Given the description of an element on the screen output the (x, y) to click on. 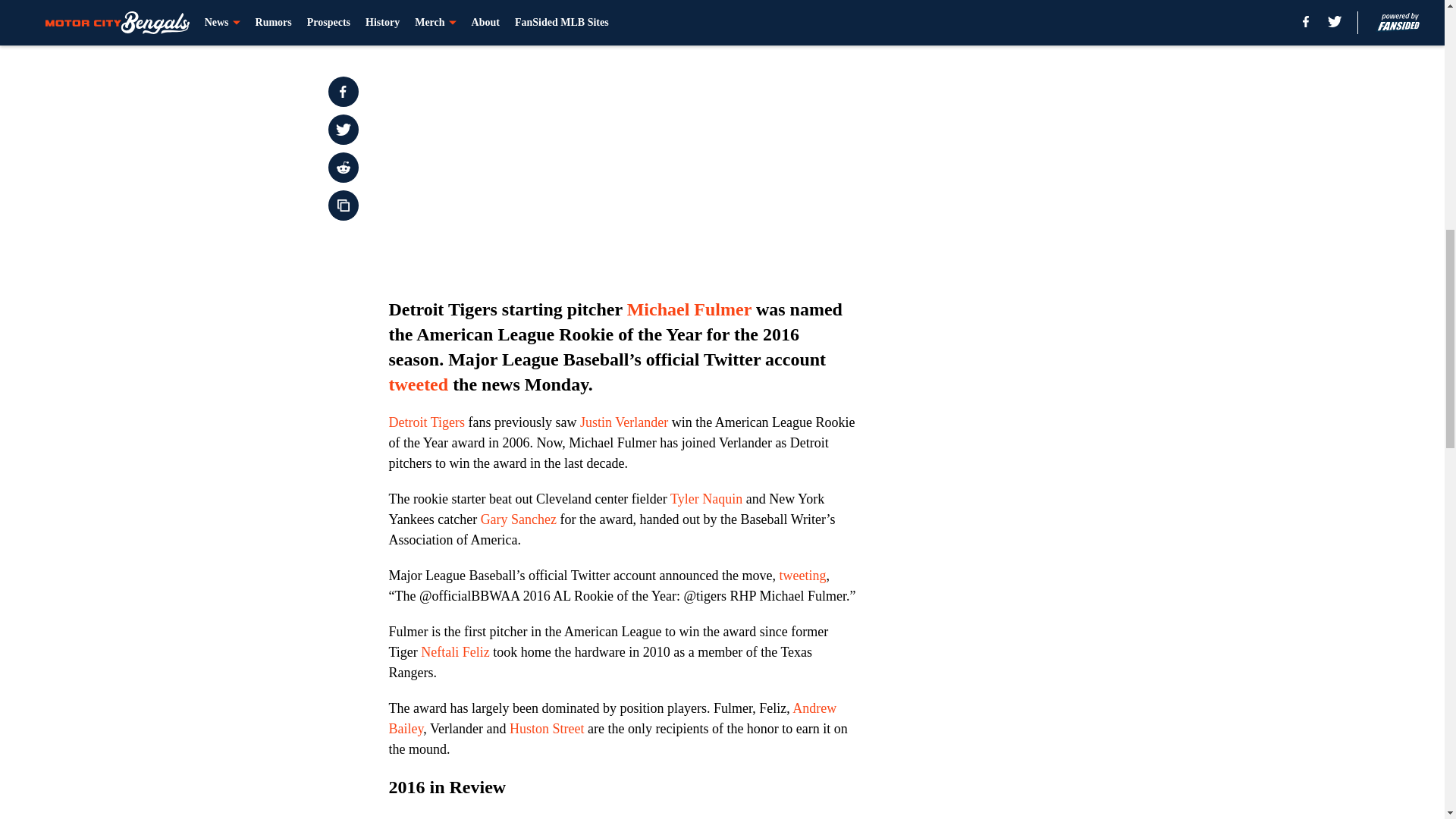
tweeting (801, 575)
Huston Street (547, 728)
Justin Verlander (623, 421)
Neftali Feliz (454, 652)
Tyler Naquin (705, 498)
Detroit Tigers (426, 421)
tweeted (418, 383)
Gary Sanchez (518, 519)
Michael Fulmer (689, 309)
Andrew Bailey (611, 718)
